Given the description of an element on the screen output the (x, y) to click on. 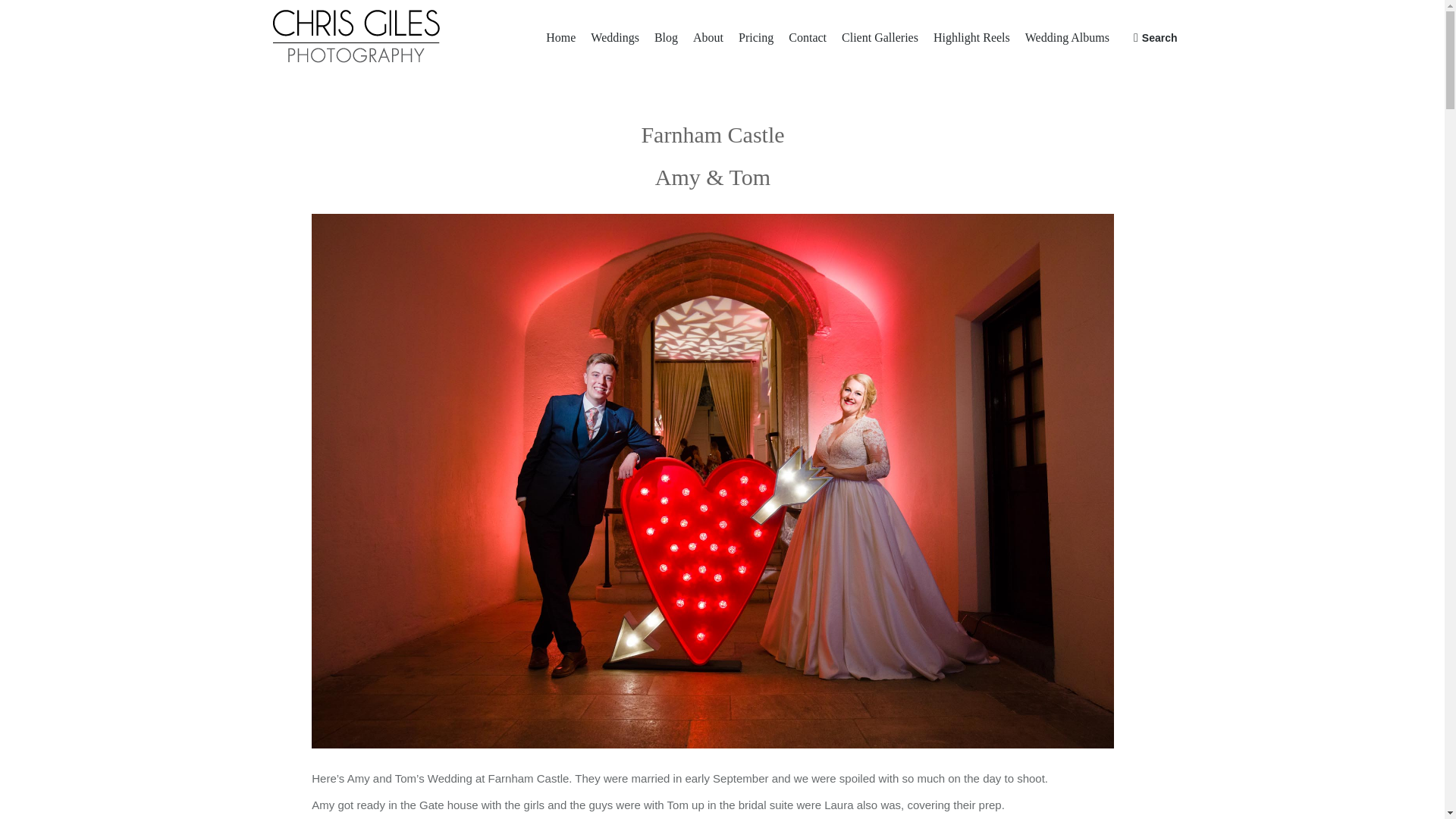
Weddings (614, 37)
Contact (806, 37)
Client Galleries (879, 37)
Pricing (756, 37)
About (707, 37)
Go! (10, 15)
Wedding Albums (1067, 37)
Highlight Reels (971, 37)
Home (560, 37)
Search (1155, 38)
Blog (665, 37)
